Given the description of an element on the screen output the (x, y) to click on. 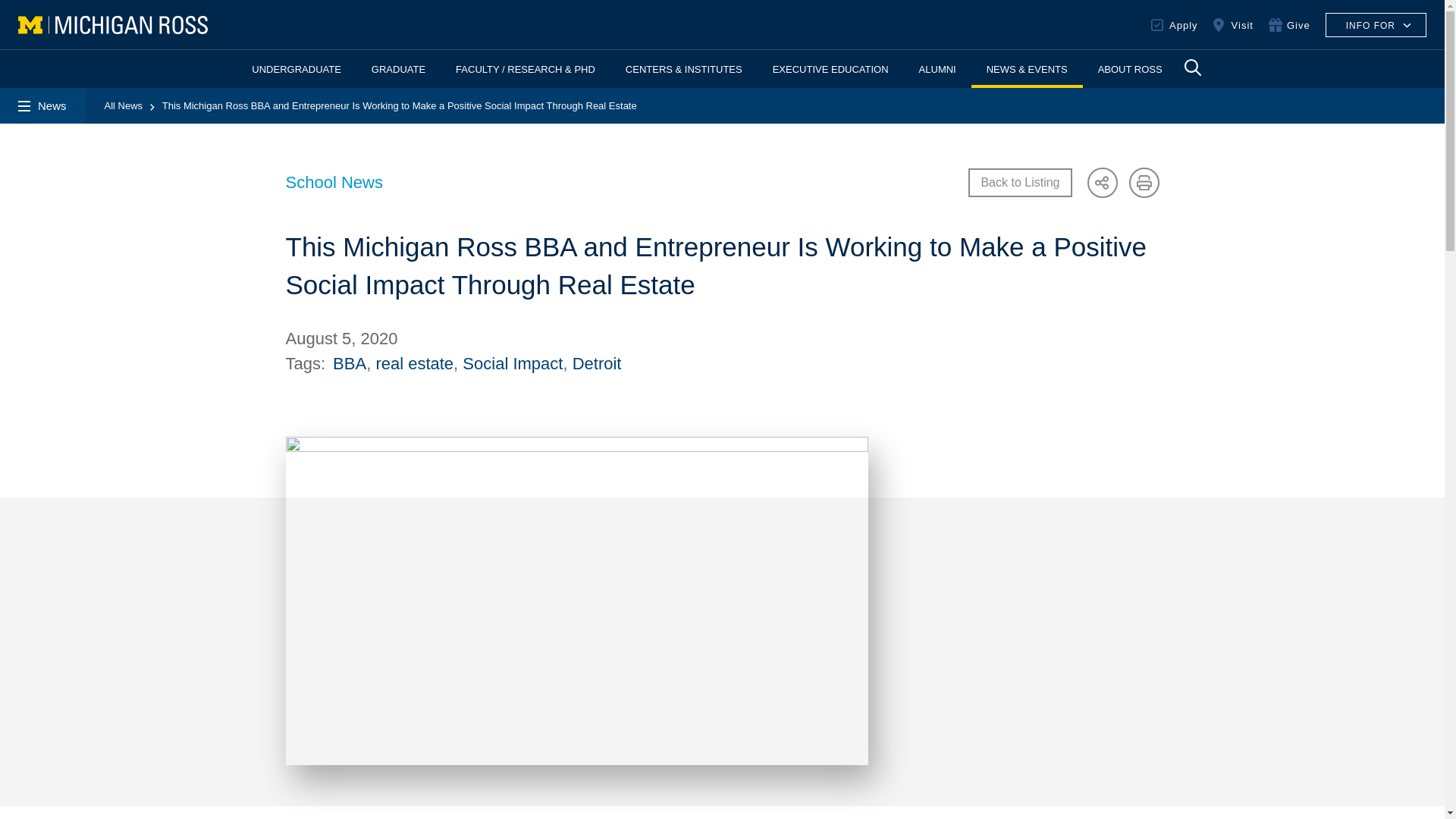
Visit (1232, 24)
INFO FOR (1375, 24)
Give (1289, 24)
Apply (1174, 24)
